Given the description of an element on the screen output the (x, y) to click on. 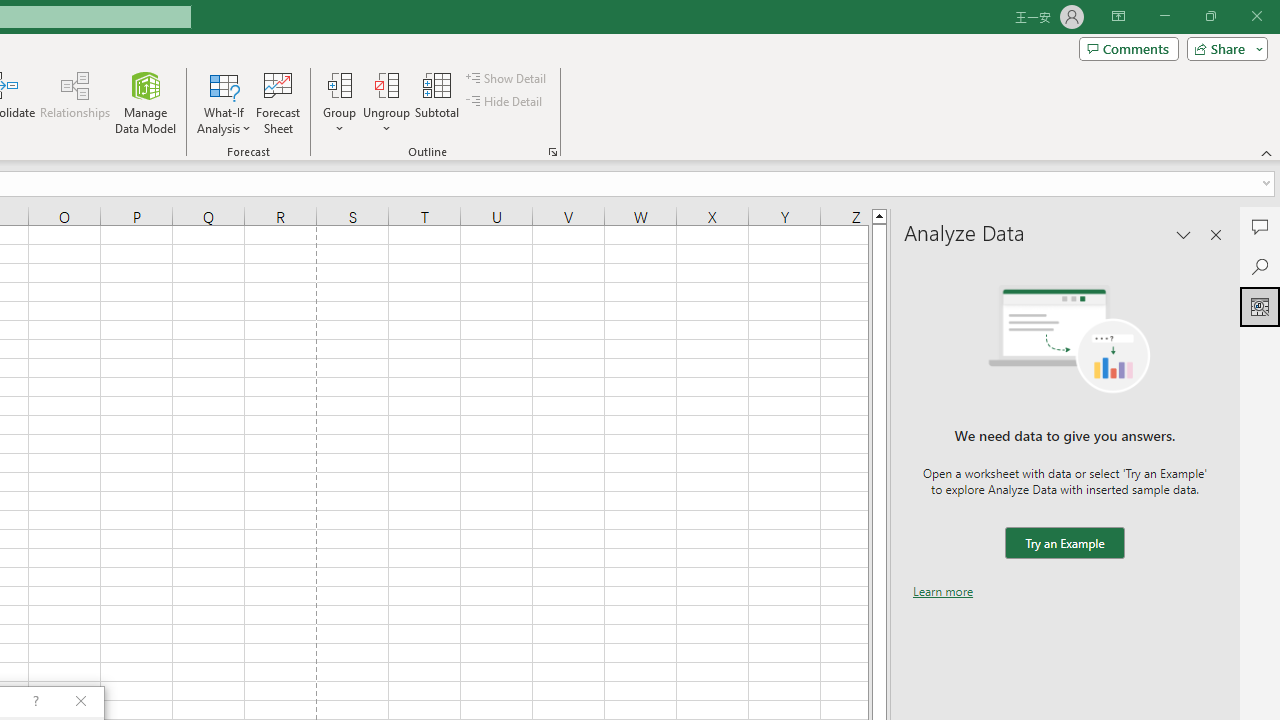
Learn more (943, 591)
